Given the description of an element on the screen output the (x, y) to click on. 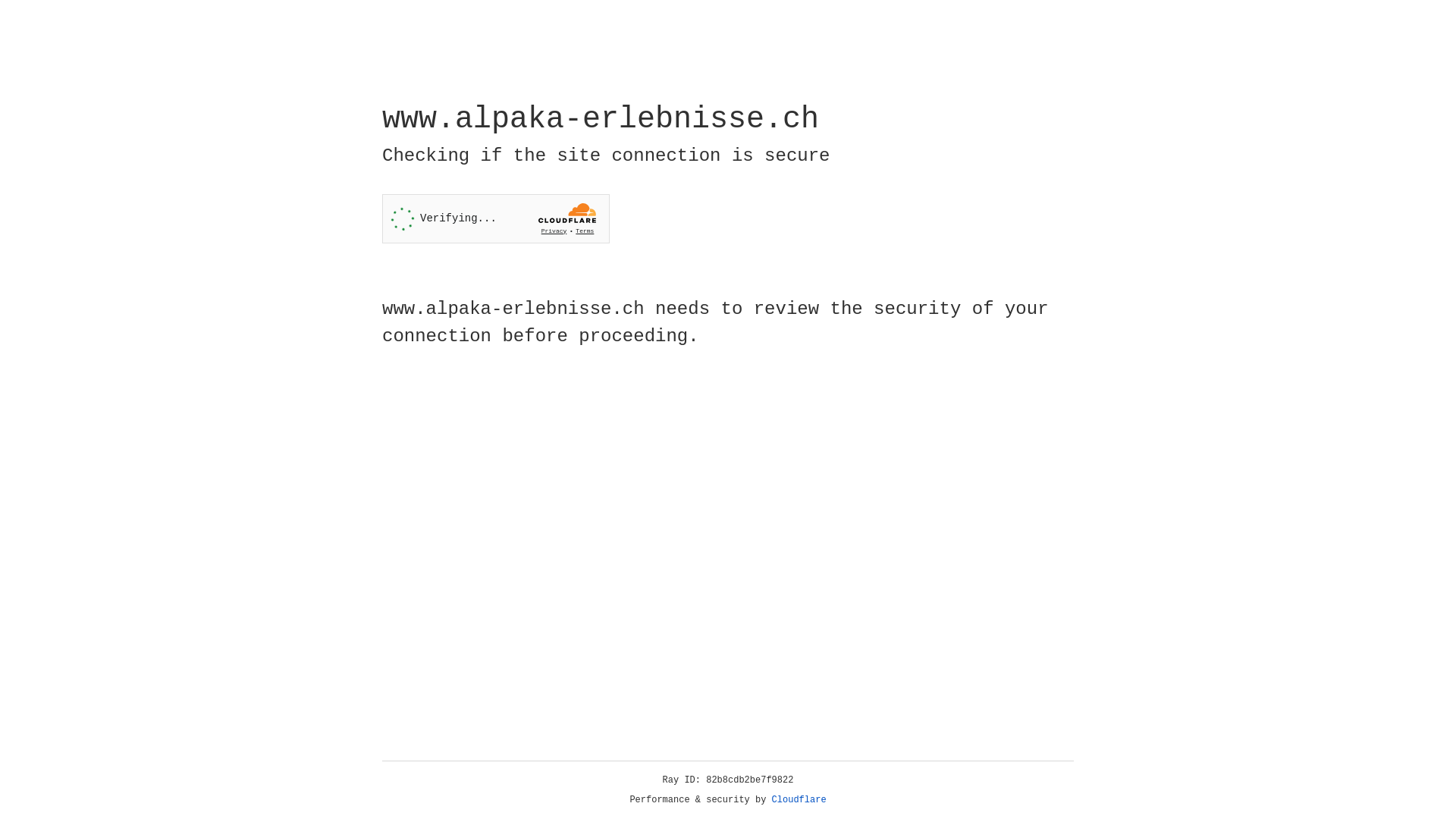
Cloudflare Element type: text (798, 799)
Widget containing a Cloudflare security challenge Element type: hover (495, 218)
